Given the description of an element on the screen output the (x, y) to click on. 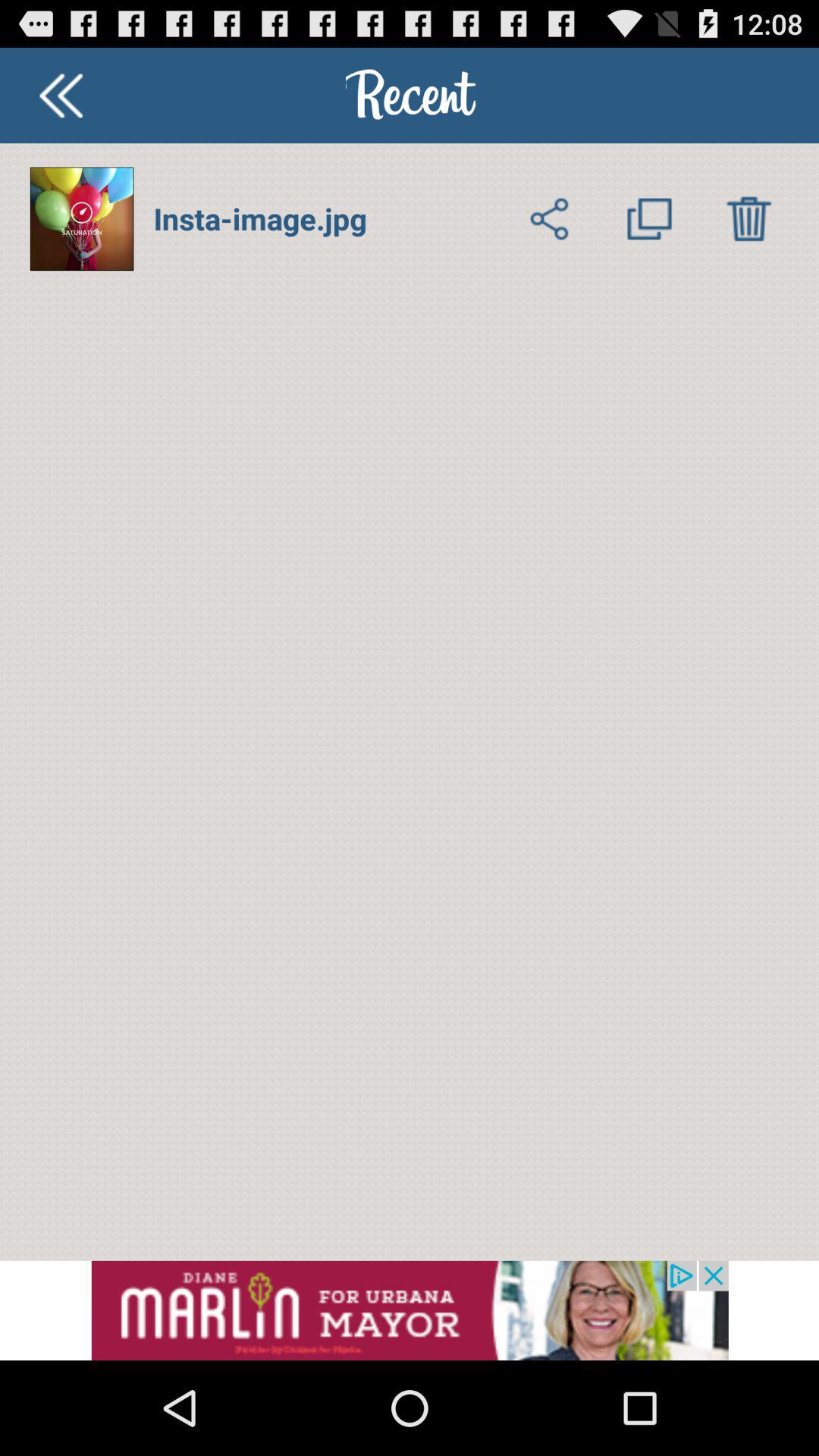
allows to download videos and images from instagram 's links (748, 218)
